Given the description of an element on the screen output the (x, y) to click on. 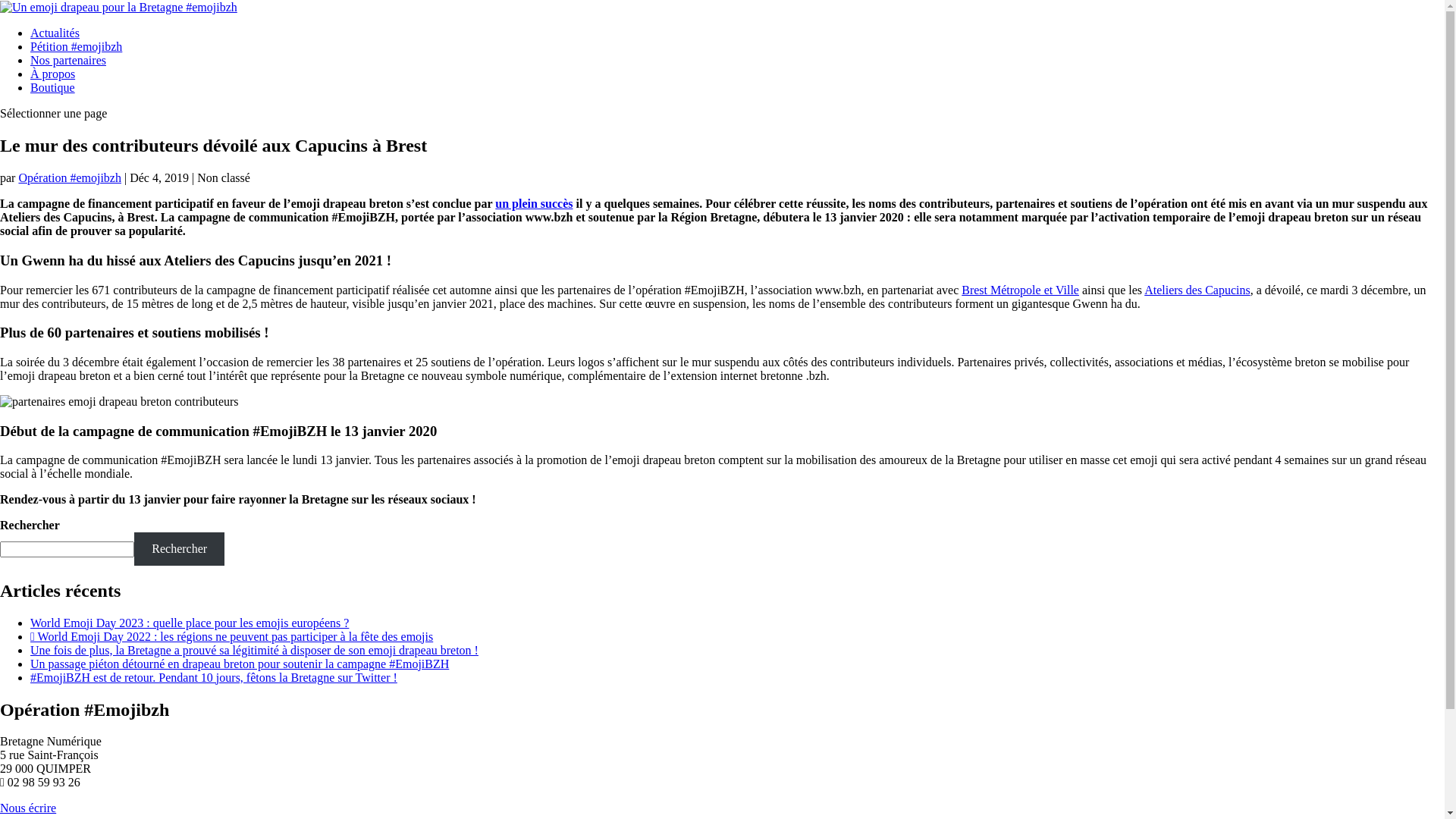
Rechercher Element type: text (179, 548)
Ateliers des Capucins Element type: text (1197, 289)
Boutique Element type: text (52, 87)
Nos partenaires Element type: text (68, 59)
